Given the description of an element on the screen output the (x, y) to click on. 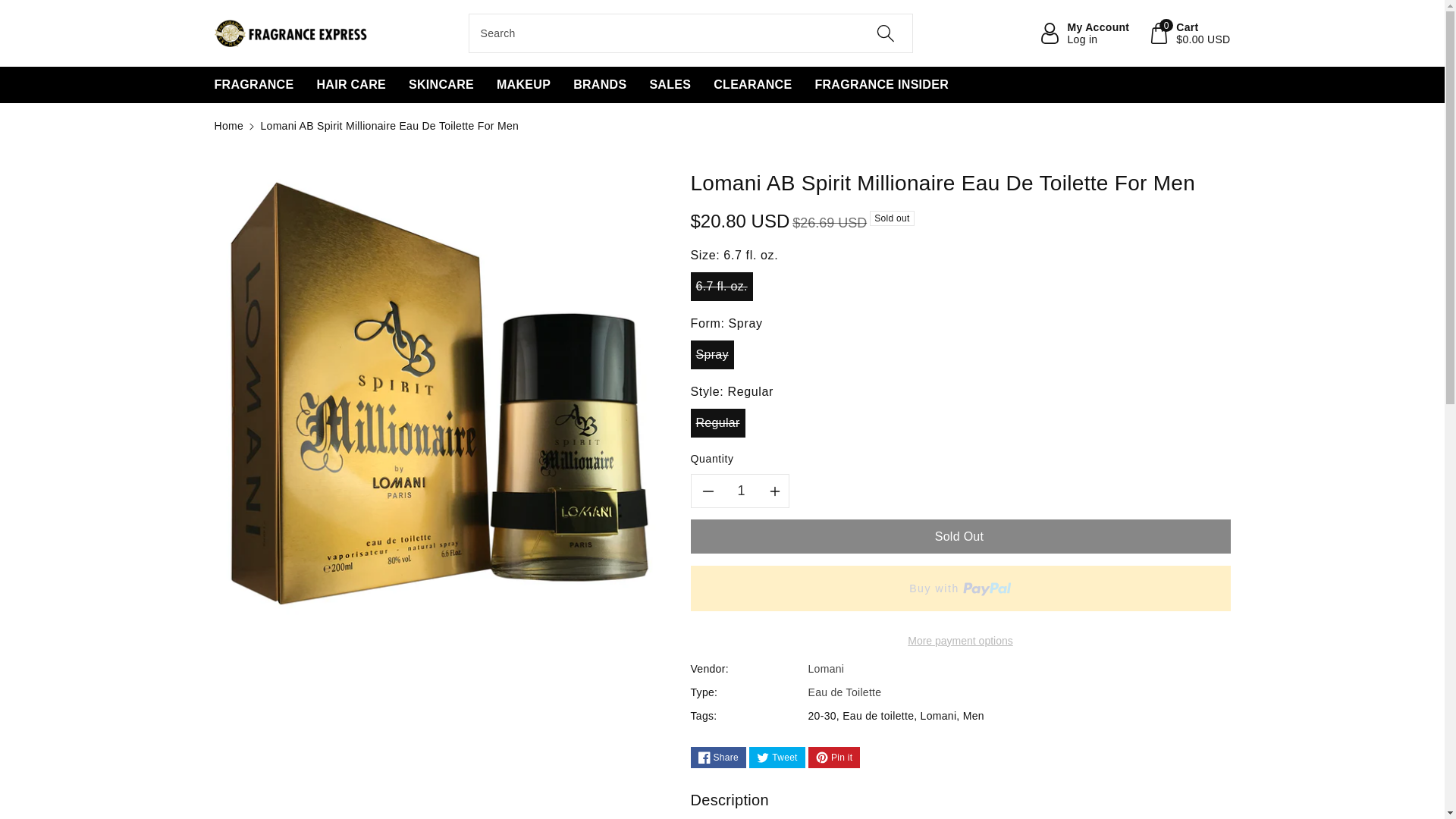
MAKEUP (523, 85)
SKINCARE (441, 85)
SALES (669, 85)
Home (228, 125)
HAIR CARE (350, 85)
Skip To Product Information (222, 178)
1 (741, 490)
FRAGRANCE (254, 85)
BRANDS (599, 85)
CLEARANCE (752, 85)
Skip To Content (8, 8)
Home (228, 125)
